Given the description of an element on the screen output the (x, y) to click on. 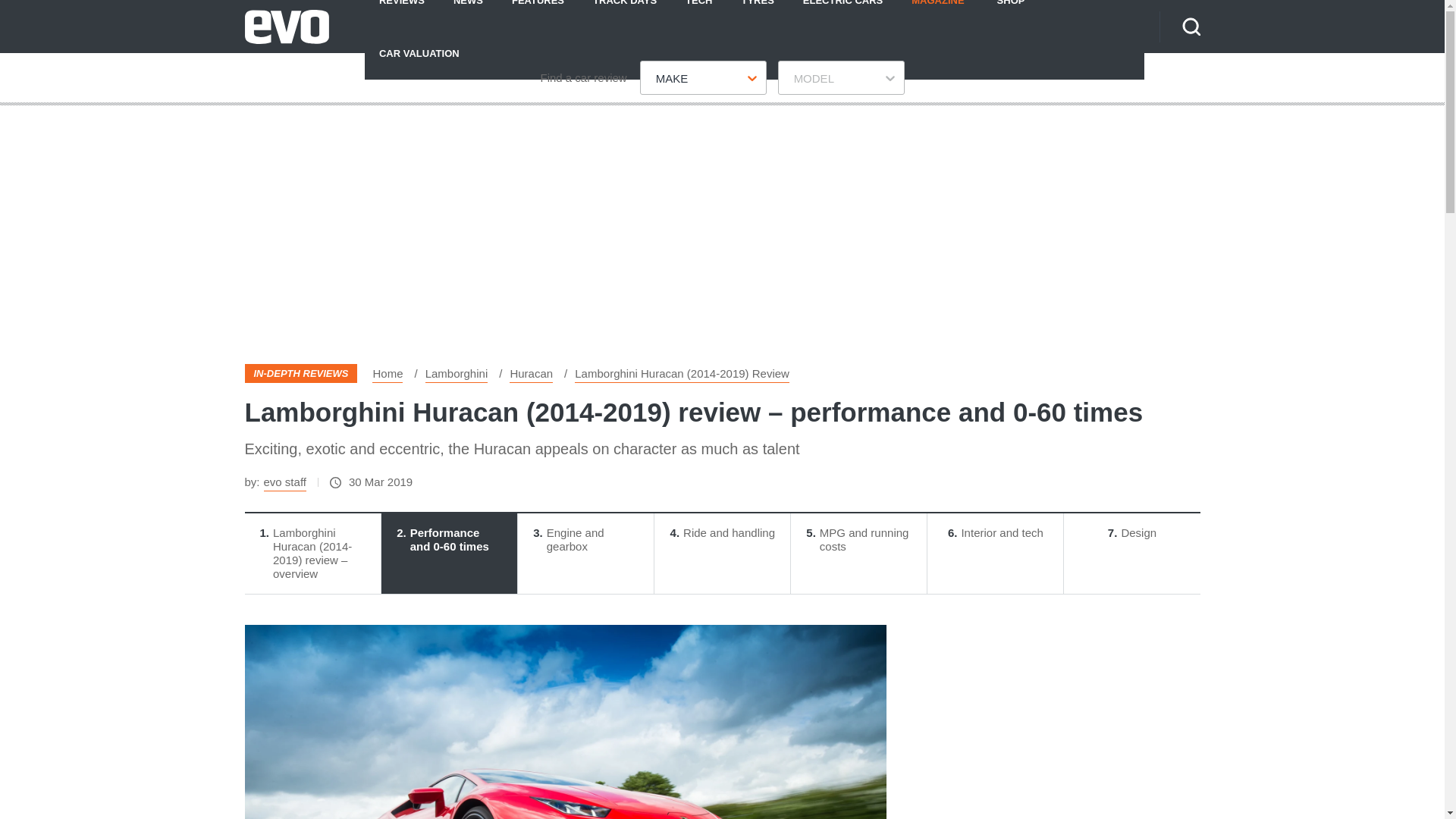
TECH (698, 13)
FEATURES (537, 13)
SHOP (1010, 13)
TYRES (756, 13)
NEWS (468, 13)
ELECTRIC CARS (842, 13)
TRACK DAYS (624, 13)
CAR VALUATION (419, 52)
Search (1189, 26)
MAGAZINE (937, 13)
